Given the description of an element on the screen output the (x, y) to click on. 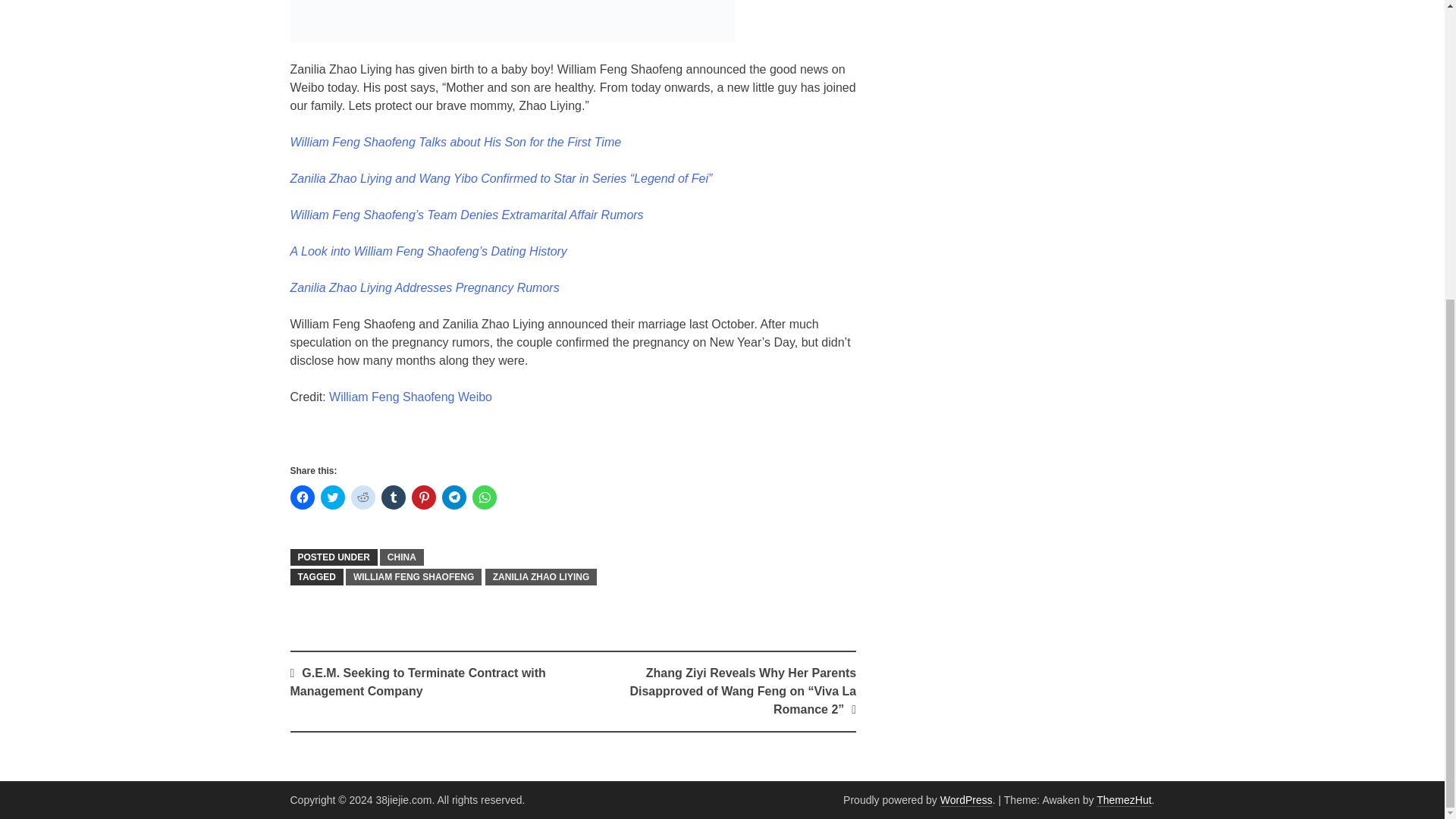
Click to share on Twitter (331, 497)
Click to share on Telegram (453, 497)
WordPress (966, 799)
Click to share on Facebook (301, 497)
William Feng Shaofeng Talks about His Son for the First Time (455, 141)
Click to share on Reddit (362, 497)
Click to share on Pinterest (422, 497)
William Feng Shaofeng Weibo (410, 396)
Click to share on Tumblr (392, 497)
Click to share on WhatsApp (483, 497)
